Given the description of an element on the screen output the (x, y) to click on. 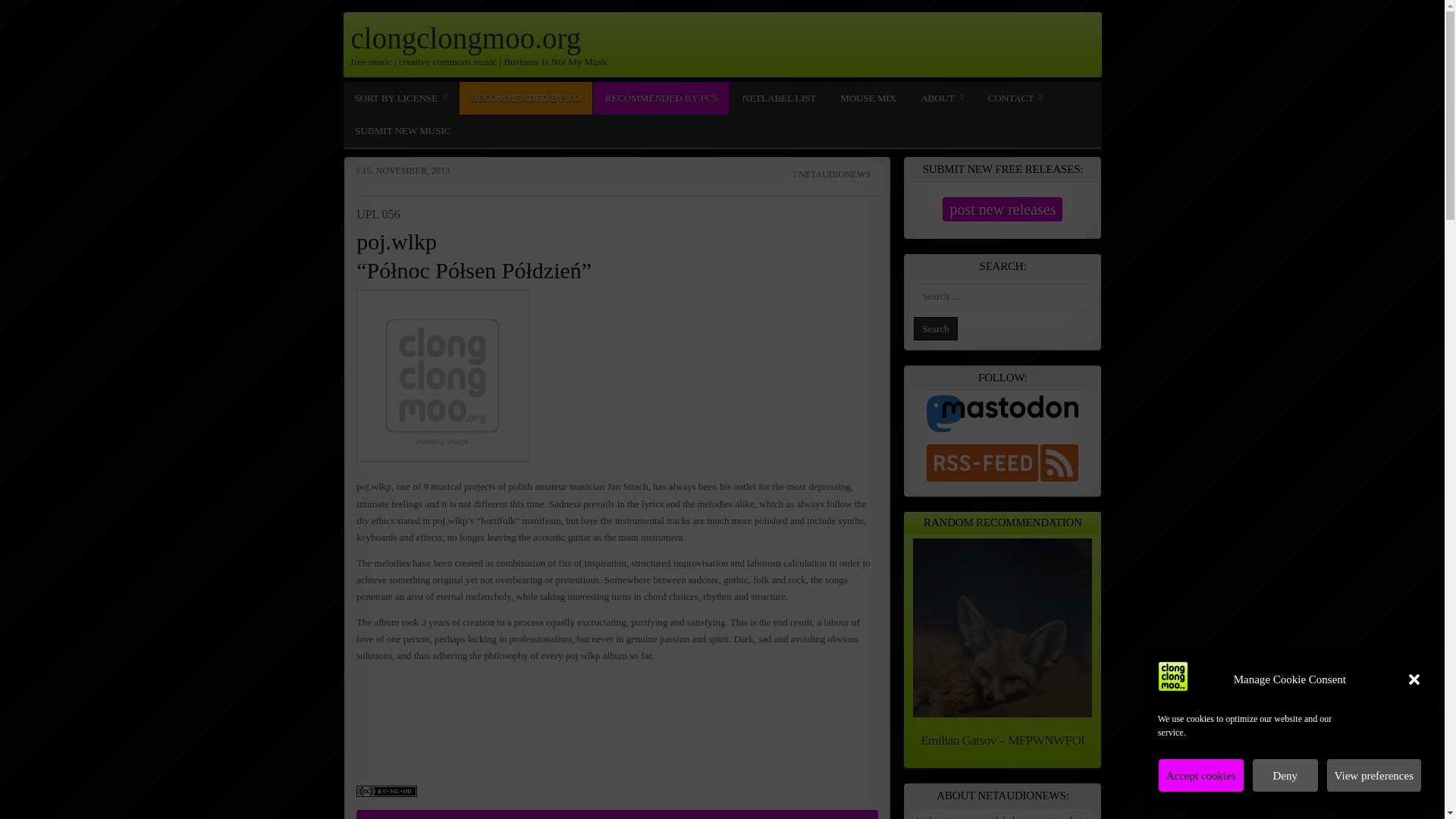
SUBMIT NEW MUSIC (402, 130)
Search (935, 328)
ABOUT (941, 97)
MOUSE MIX (868, 97)
Accept cookies (1200, 775)
RECOMMENDED BY FCS (661, 97)
RECOMMENDED BY KO (525, 97)
clongclongmoo.org (465, 38)
View preferences (1374, 775)
NETAUDIONEWS (833, 173)
